Given the description of an element on the screen output the (x, y) to click on. 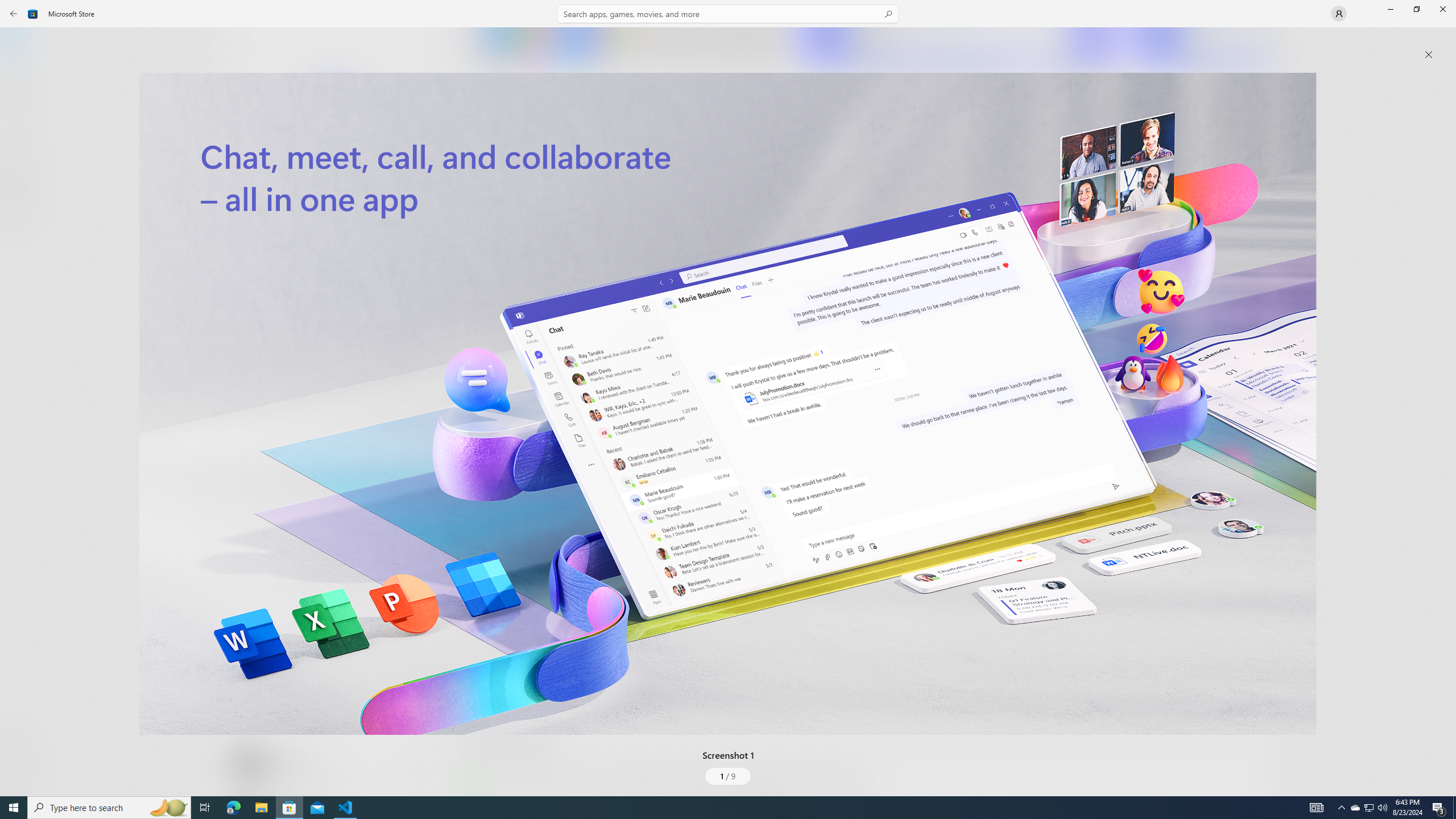
Entertainment (20, 185)
